Given the description of an element on the screen output the (x, y) to click on. 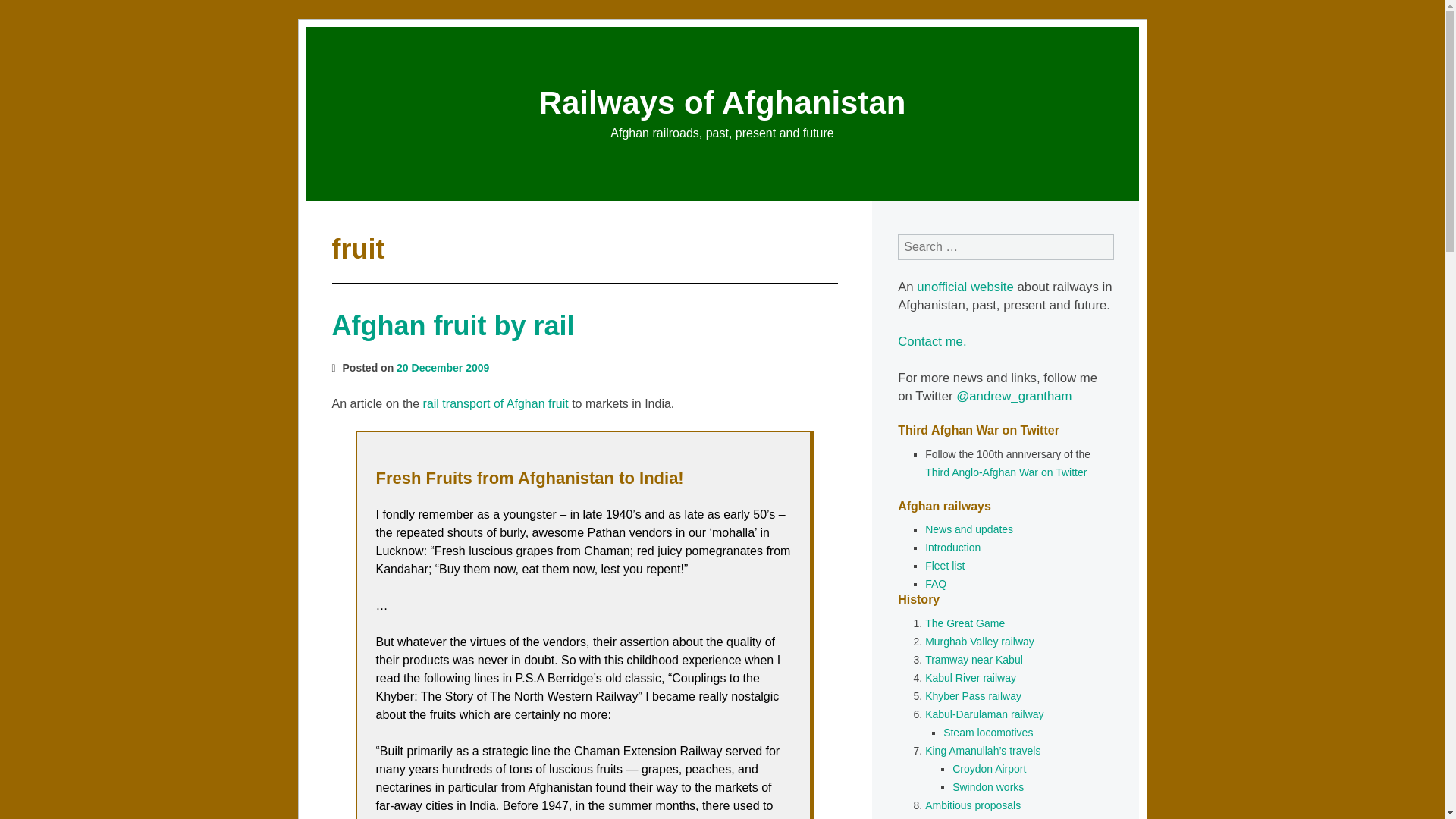
King Amanullah at Croydon Air Port (989, 768)
Steam locomotives at the National Museum of Afghanistan (987, 732)
20 December 2009 (442, 367)
Fleet list (943, 565)
FAQ (935, 583)
The Great Game (964, 623)
Search (27, 11)
Railways of Afghanistan (721, 102)
Afghanistan railway FAQ (935, 583)
News and updates (968, 529)
Kabul to Darulaman railway (983, 714)
Fleet list (943, 565)
Khyber Pass railway (973, 695)
unofficial website (965, 287)
Contact me. (932, 341)
